Given the description of an element on the screen output the (x, y) to click on. 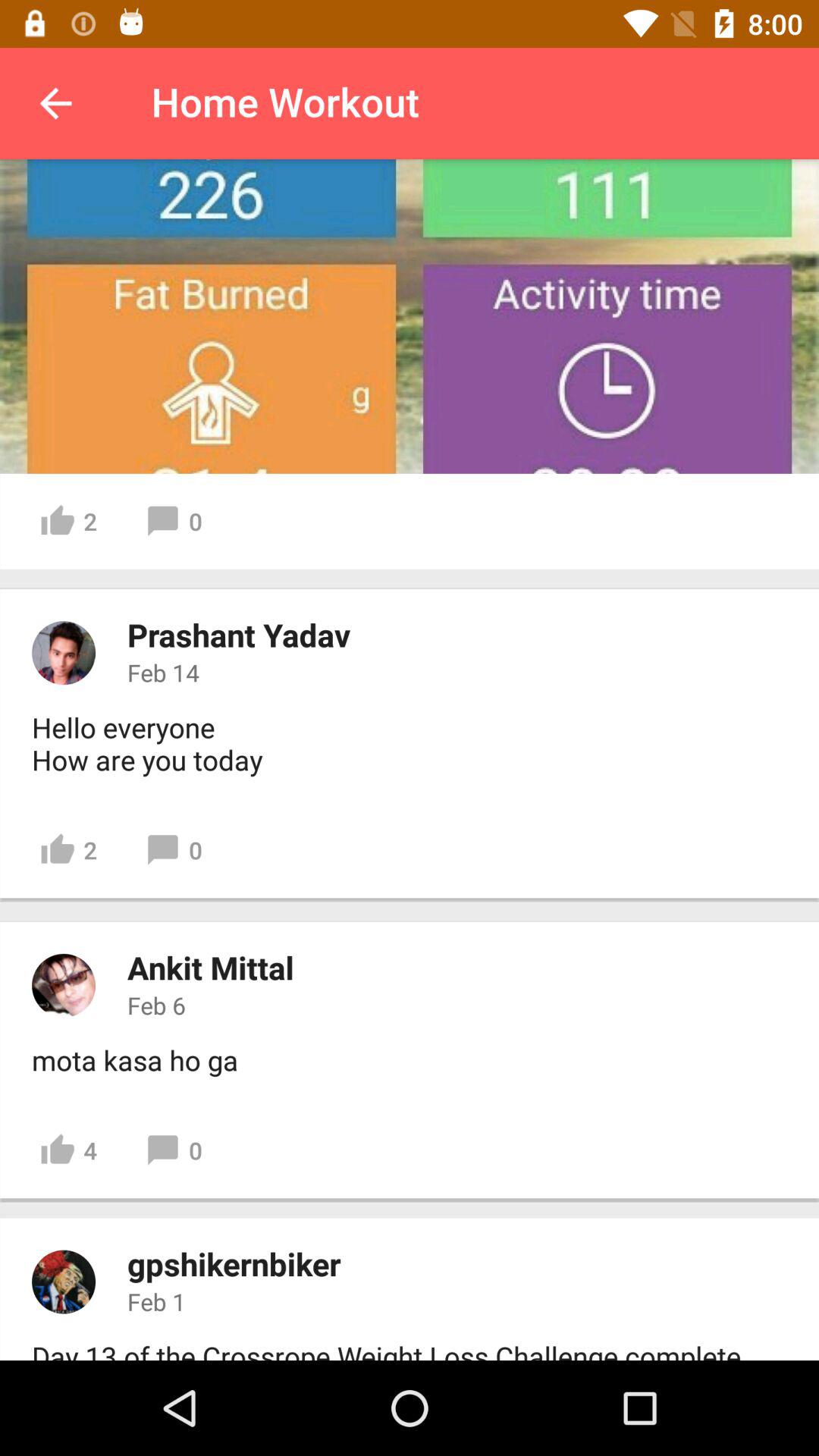
click the icon above gpshikernbiker item (68, 1150)
